Given the description of an element on the screen output the (x, y) to click on. 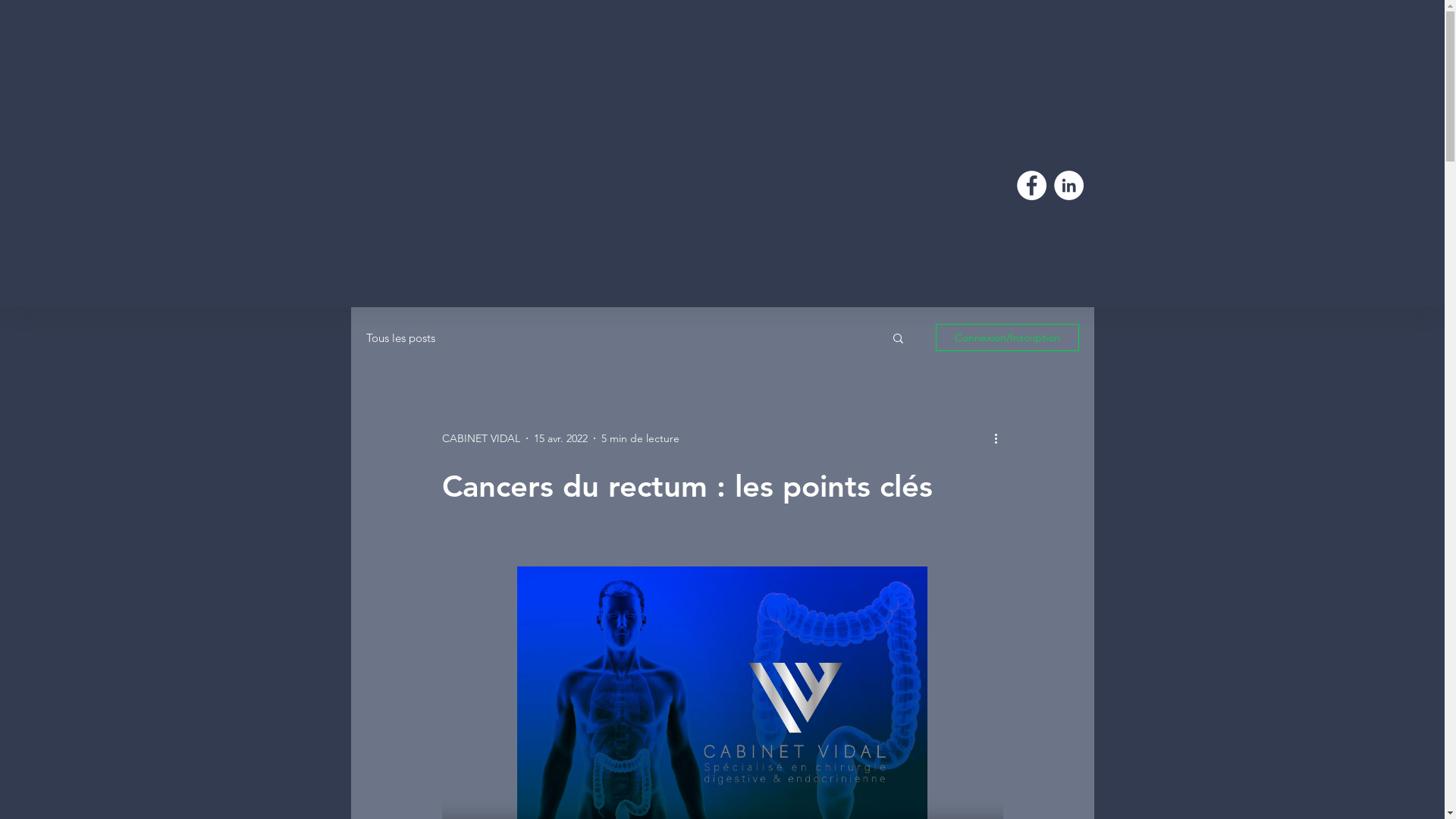
Tous les posts Element type: text (399, 337)
Connexion/Inscription Element type: text (1007, 337)
